Given the description of an element on the screen output the (x, y) to click on. 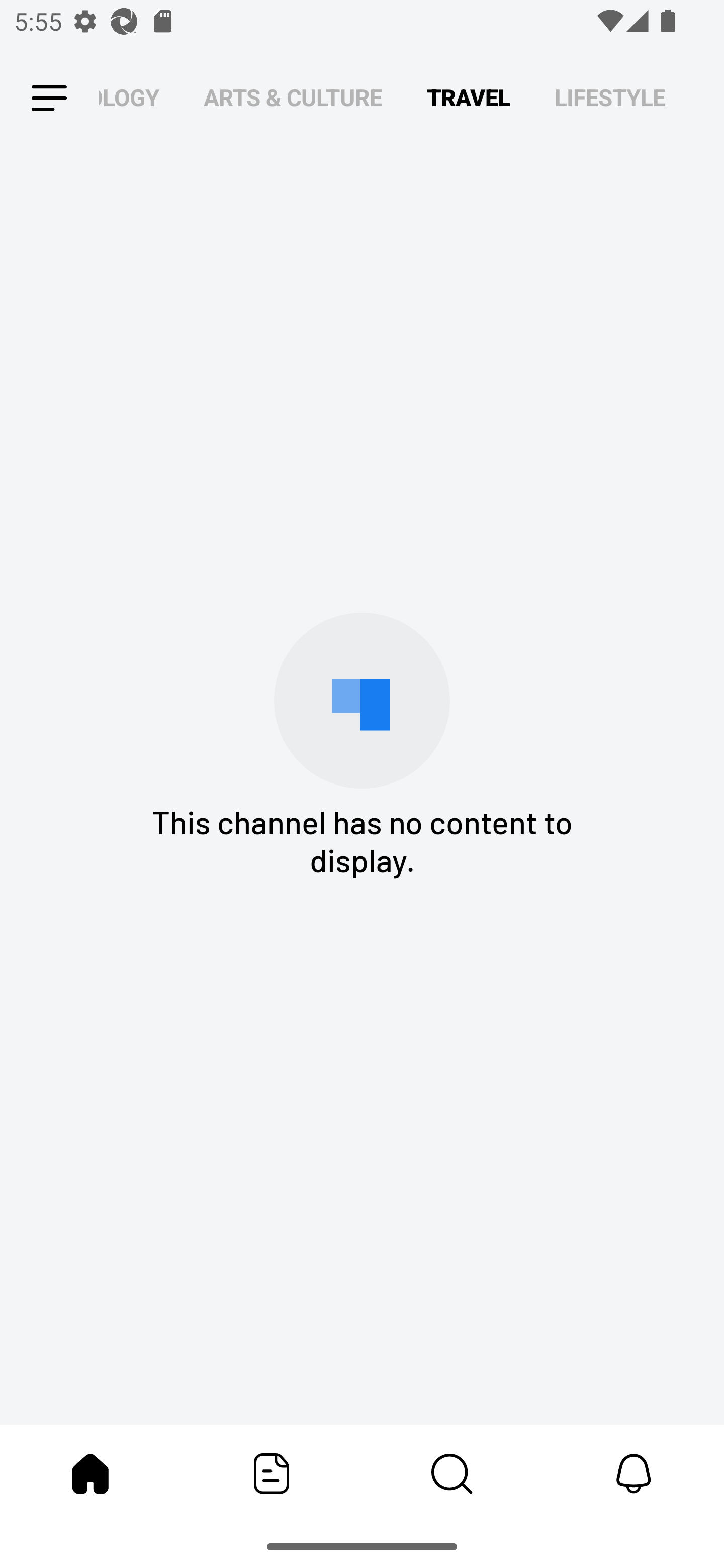
Leading Icon (49, 98)
TECHNOLOGY (128, 97)
ARTS & CULTURE (292, 97)
LIFESTYLE (609, 97)
Featured (271, 1473)
Content Store (452, 1473)
Notifications (633, 1473)
